Given the description of an element on the screen output the (x, y) to click on. 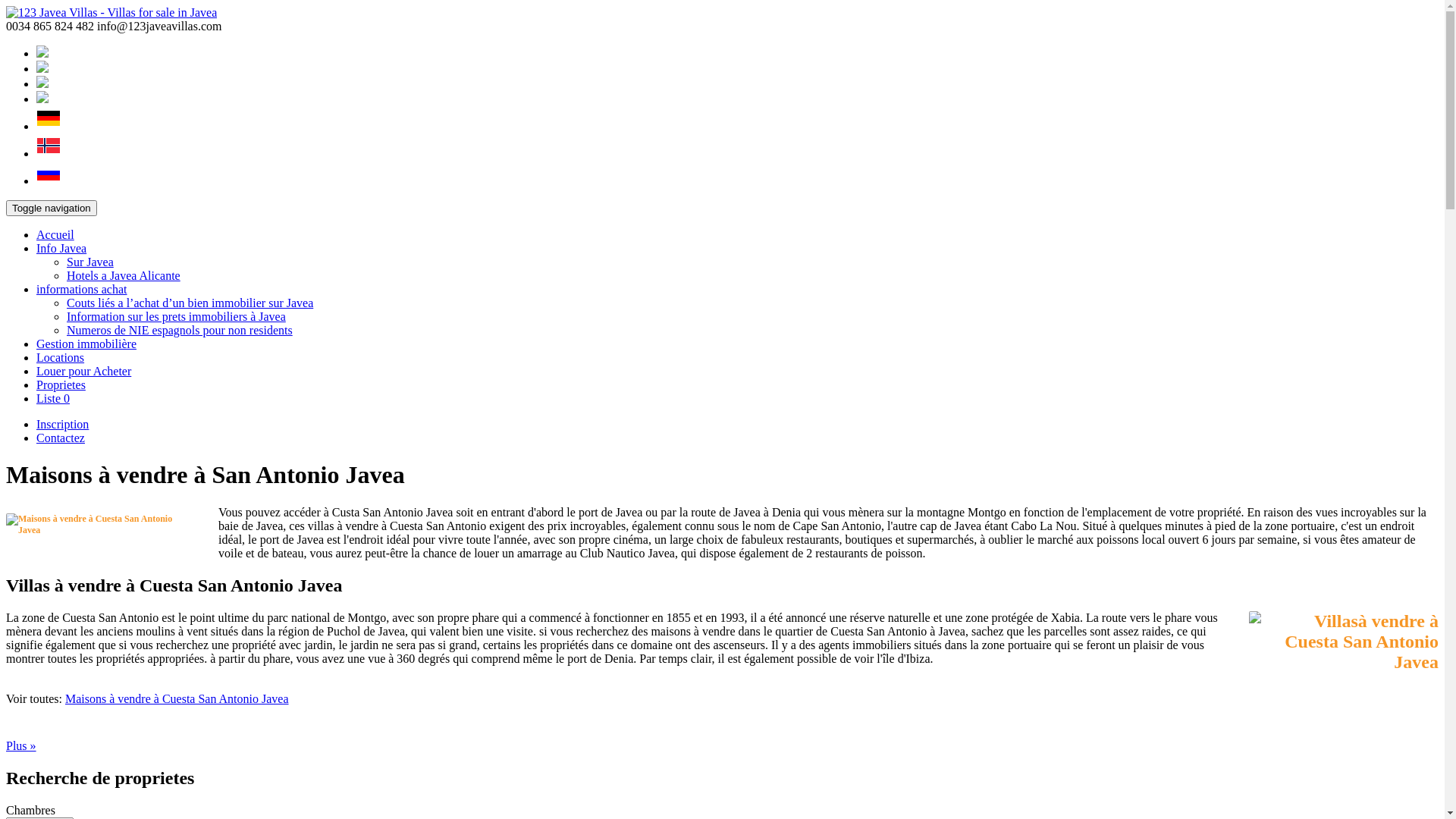
Russian Element type: hover (48, 180)
Accueil Element type: text (55, 234)
Numeros de NIE espagnols pour non residents Element type: text (179, 329)
informations achat Element type: text (81, 288)
Norwegian Element type: hover (48, 153)
Locations Element type: text (60, 357)
Hotels a Javea Alicante Element type: text (123, 275)
Inscription Element type: text (62, 423)
German Element type: hover (48, 125)
Louer pour Acheter Element type: text (83, 370)
Dutch Element type: hover (42, 98)
Liste 0 Element type: text (52, 398)
English Element type: hover (42, 53)
Proprietes Element type: text (60, 384)
French Element type: hover (42, 68)
Toggle navigation Element type: text (51, 208)
Spanish Element type: hover (42, 83)
Sur Javea Element type: text (89, 261)
123 Javea Villas - Villas for sale in Javea Element type: hover (111, 12)
Info Javea Element type: text (61, 247)
Contactez Element type: text (60, 437)
